Given the description of an element on the screen output the (x, y) to click on. 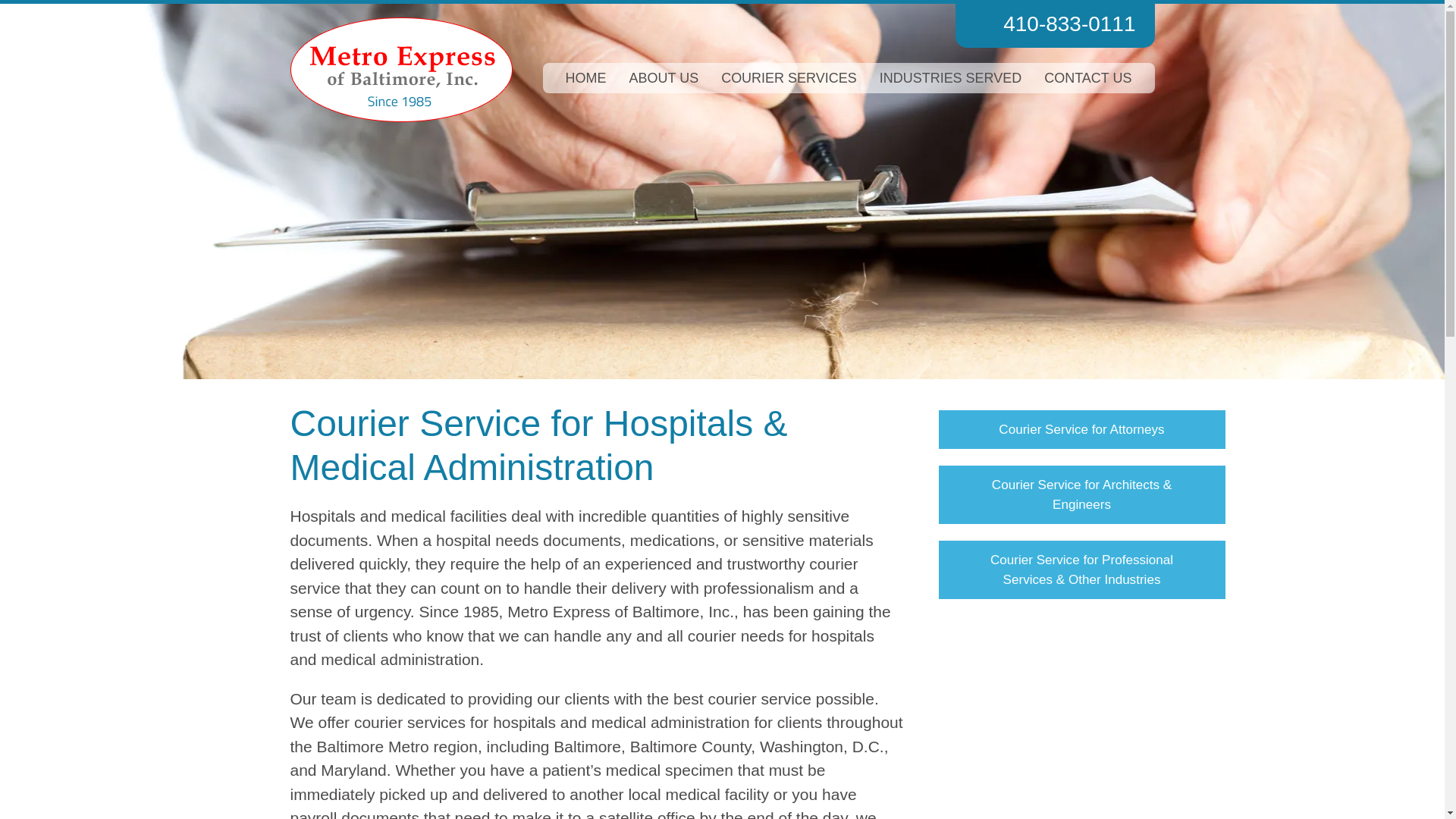
HOME (585, 78)
COURIER SERVICES (788, 78)
410-833-0111 (1054, 25)
ABOUT US (663, 78)
Metro Express of Baltimore, Inc (400, 69)
CONTACT US (1087, 78)
Courier Service for Attorneys (1081, 429)
INDUSTRIES SERVED (950, 78)
